Given the description of an element on the screen output the (x, y) to click on. 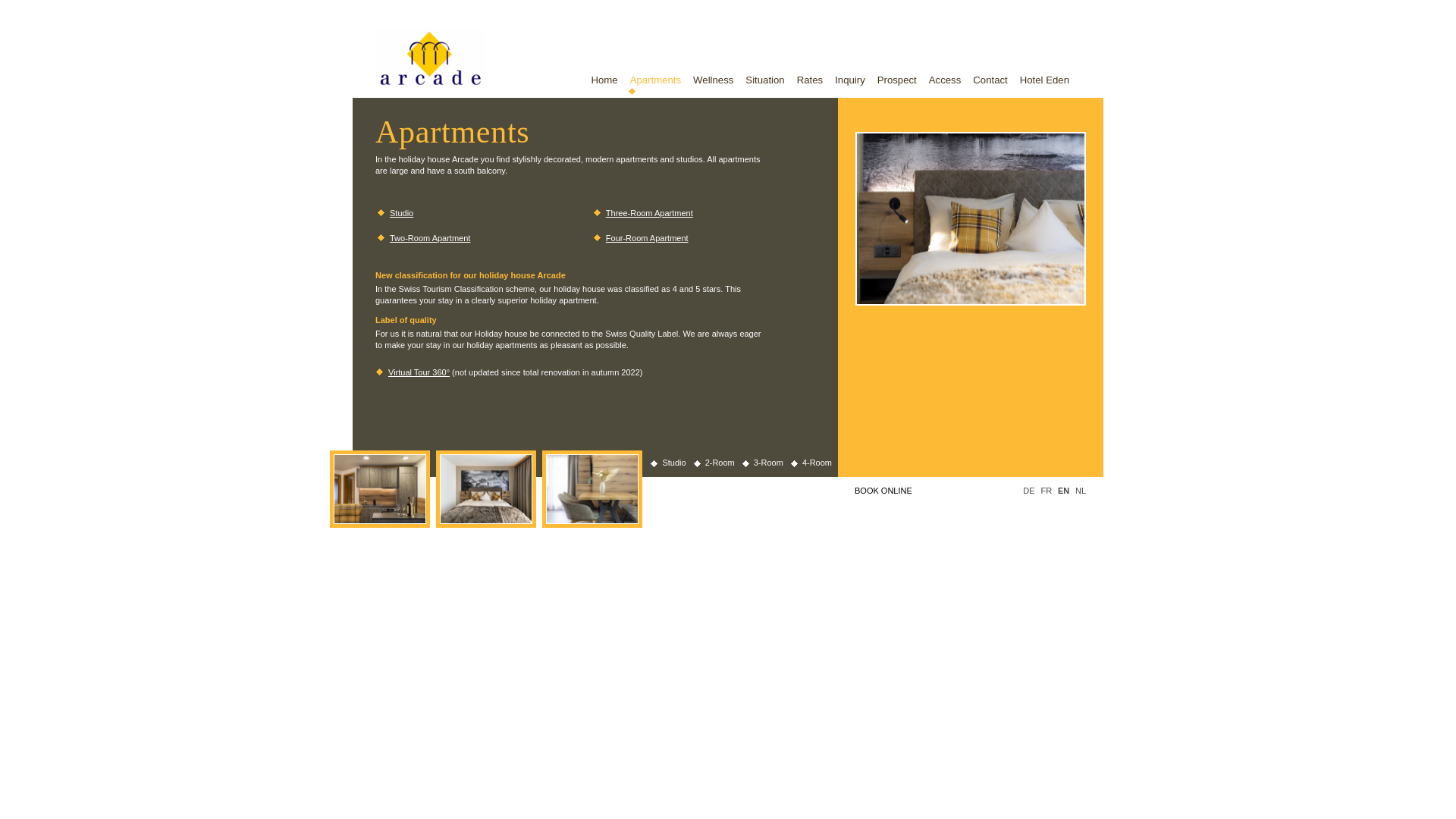
Apartments (655, 84)
Situation (765, 84)
Prospect (896, 84)
Contact (989, 84)
Inquiry (849, 84)
Home (603, 84)
Rates (809, 84)
Hotel Eden (1044, 84)
Wellness (713, 84)
Two-Room Apartment (430, 237)
Three-Room Apartment (649, 212)
Access (945, 84)
Studio (401, 212)
Four-Room Apartment (646, 237)
